Given the description of an element on the screen output the (x, y) to click on. 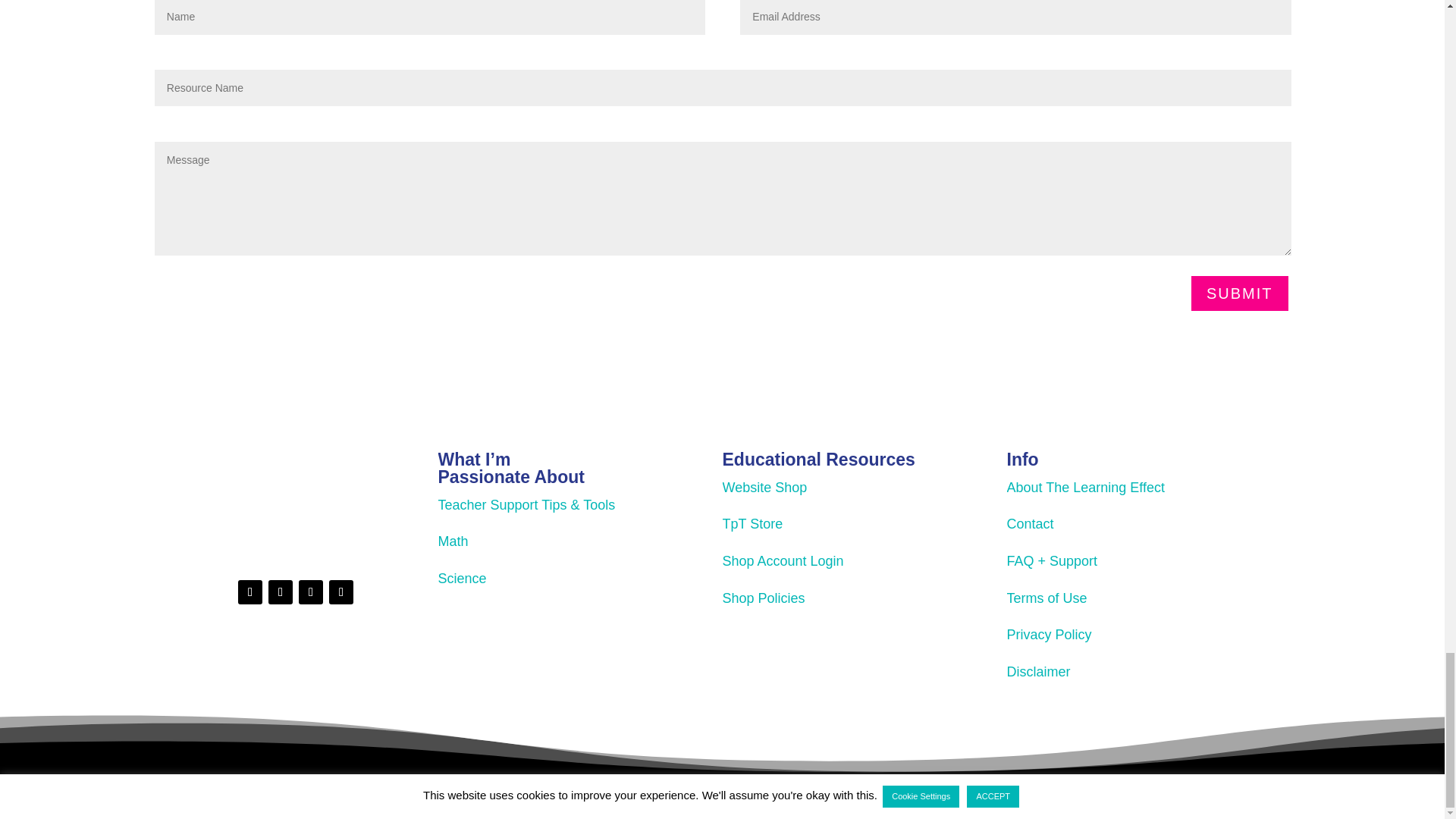
Follow on RSS (341, 591)
Follow on Instagram (250, 591)
thelearningeffectlogo (295, 499)
Follow on Pinterest (310, 591)
Follow on Facebook (279, 591)
